Given the description of an element on the screen output the (x, y) to click on. 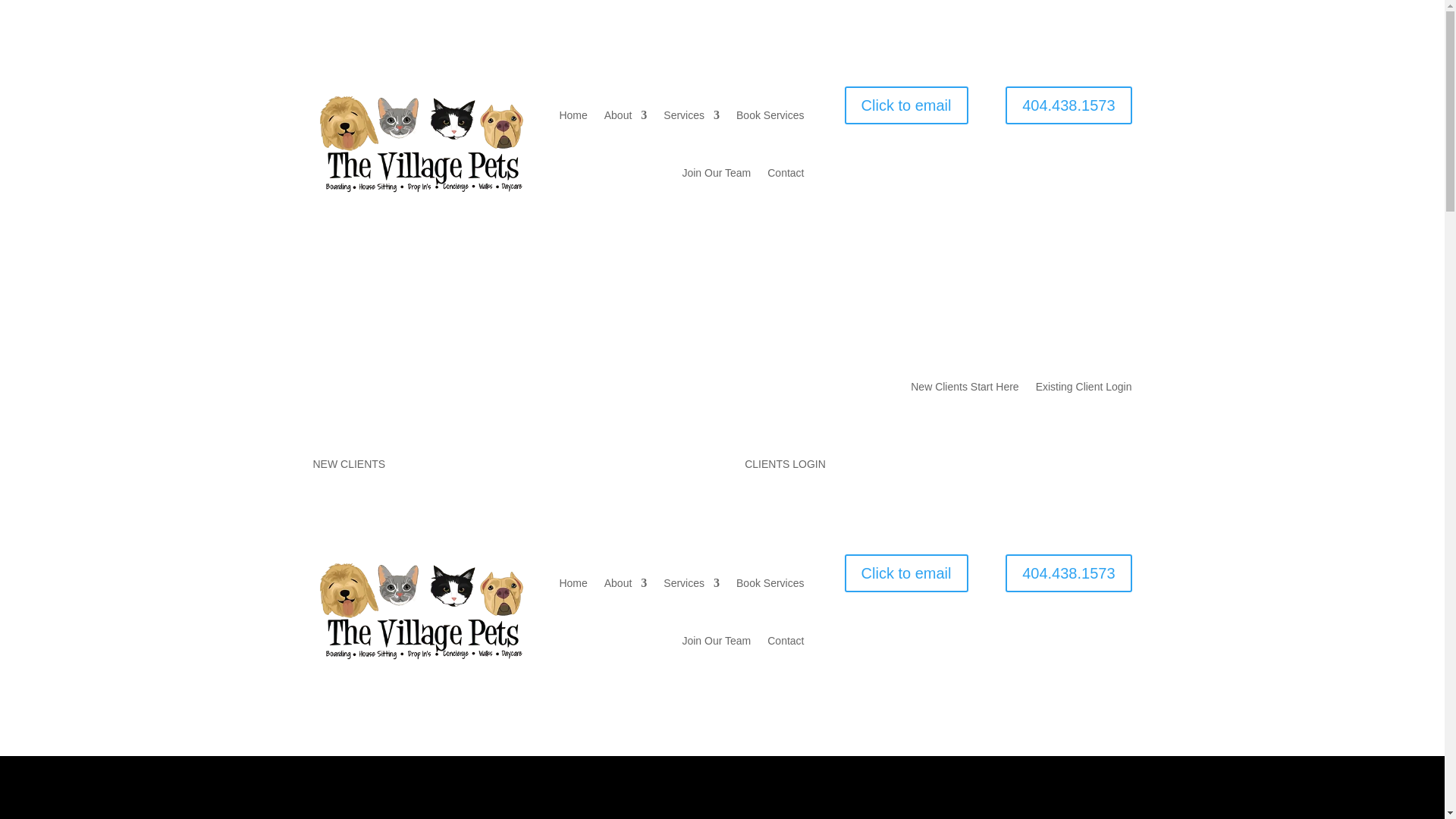
Services (691, 582)
Services (691, 115)
Join Our Team (716, 640)
404.438.1573 (1068, 105)
404.438.1573 (1068, 573)
Click to email (906, 573)
Book Services (769, 115)
Book Services (769, 582)
Existing Client Login (1083, 389)
Click to email (906, 105)
